Given the description of an element on the screen output the (x, y) to click on. 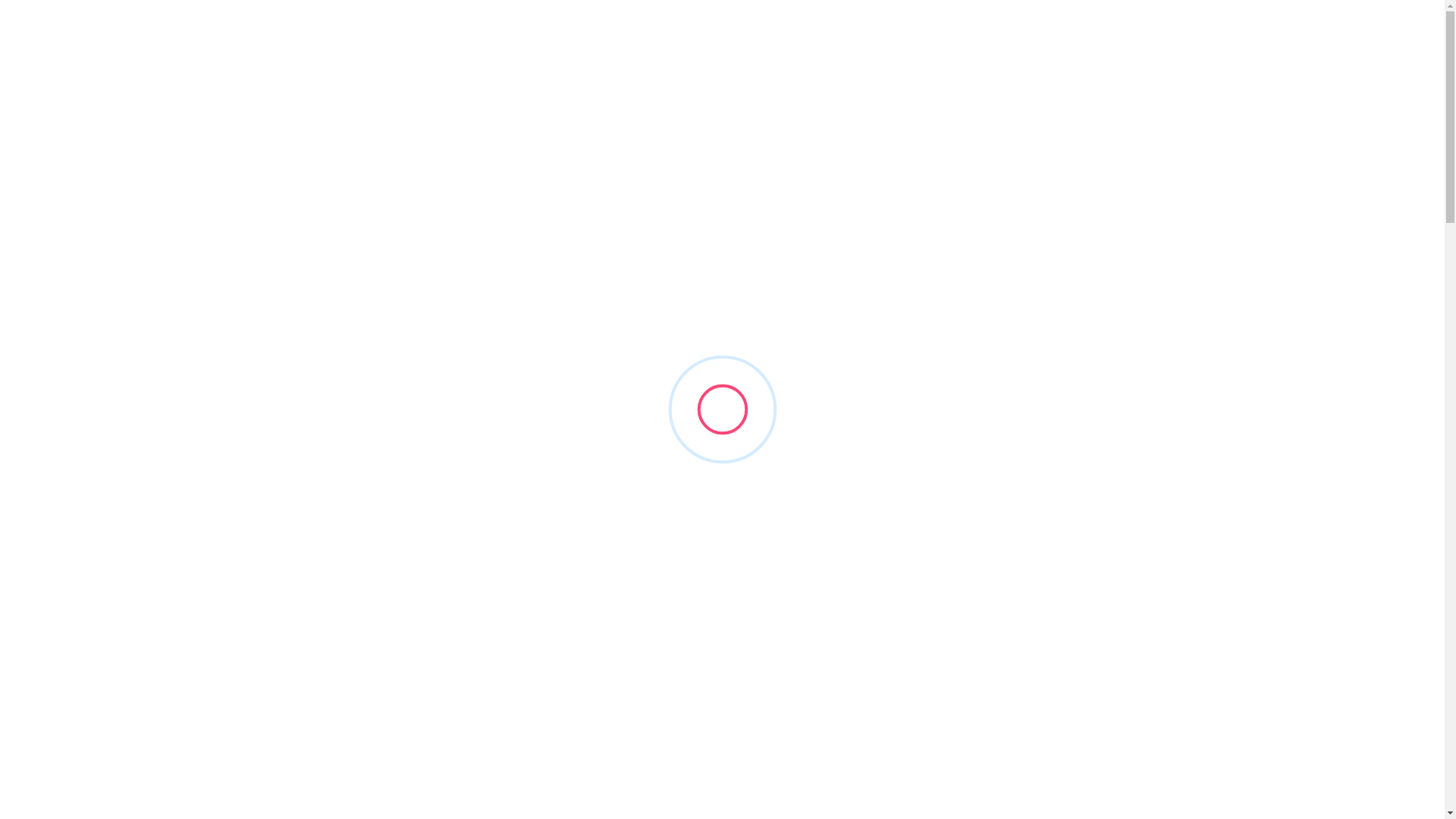
All Listings Element type: text (260, 30)
About Us Element type: text (188, 30)
Sports Rules Element type: text (463, 30)
Add Listing Element type: text (1357, 30)
Add Listing Video Tutorial Element type: text (398, 647)
SEARCH Element type: text (943, 468)
Sign In Element type: text (1259, 30)
